Given the description of an element on the screen output the (x, y) to click on. 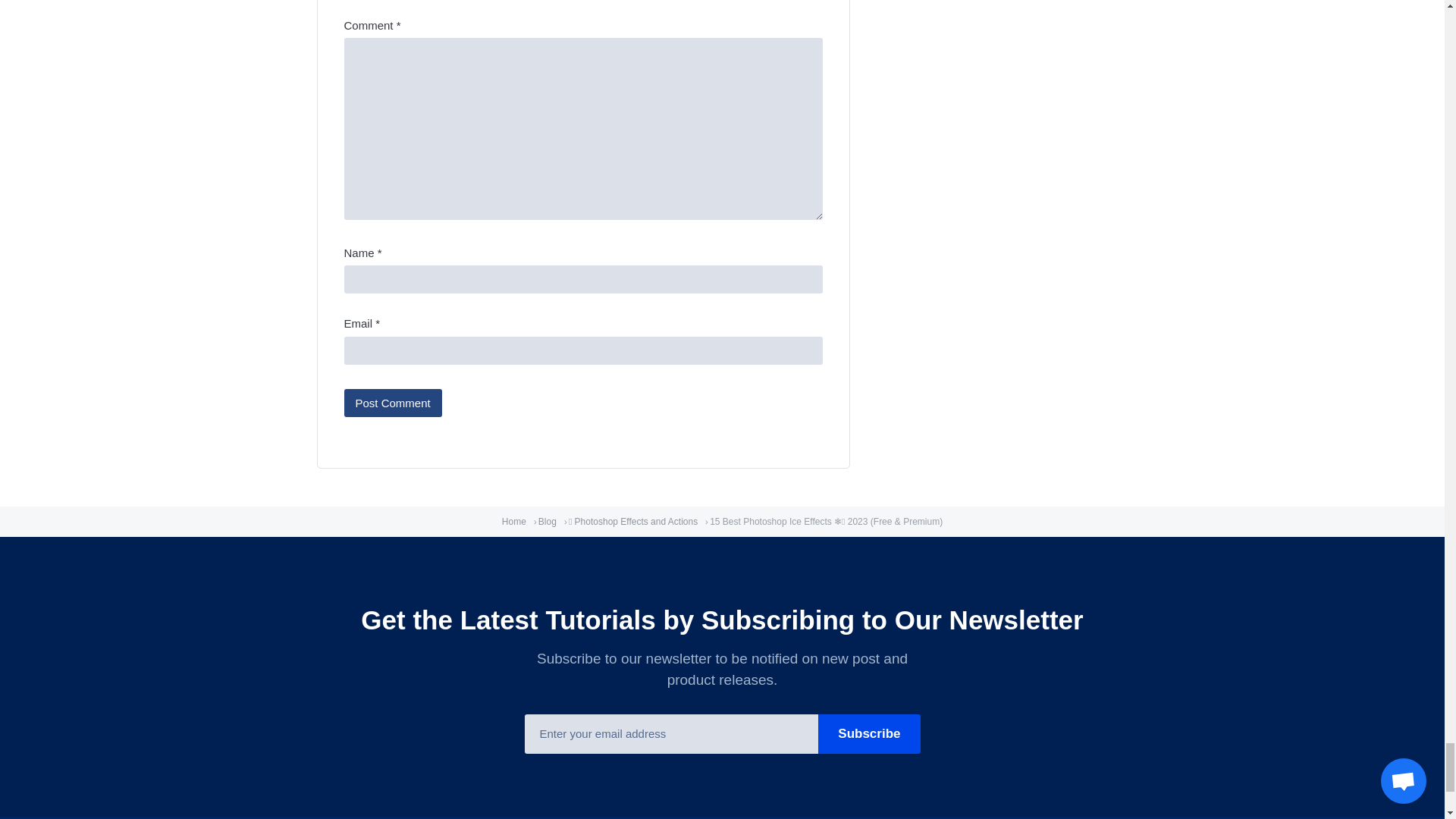
Post Comment (392, 402)
